Given the description of an element on the screen output the (x, y) to click on. 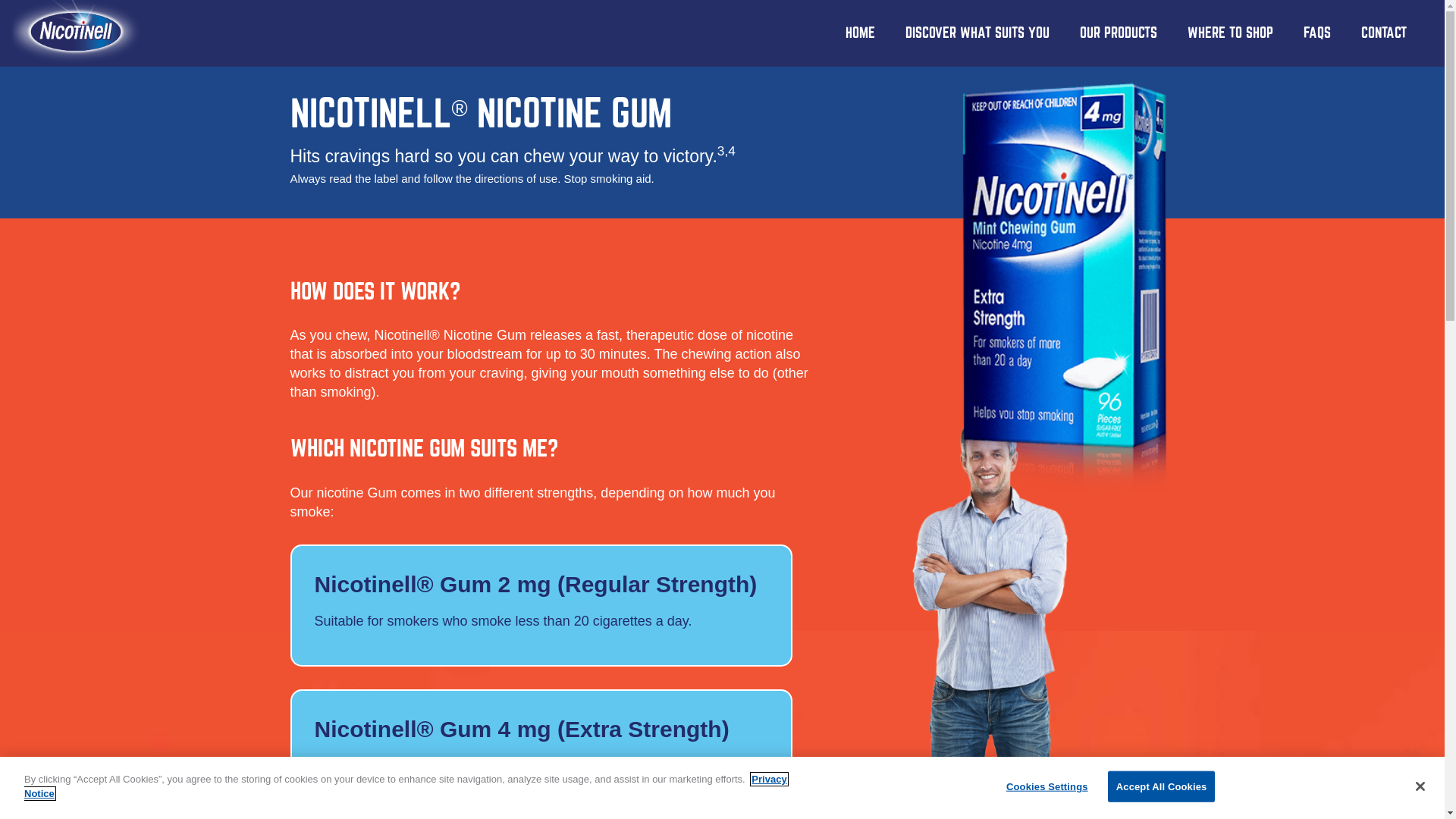
HOME Element type: text (860, 32)
DISCOVER WHAT SUITS YOU Element type: text (977, 32)
Cookies Settings Element type: text (1046, 786)
CONTACT Element type: text (1383, 32)
OUR PRODUCTS Element type: text (1118, 32)
WHERE TO SHOP Element type: text (1230, 32)
Accept All Cookies Element type: text (1161, 787)
FAQS Element type: text (1317, 32)
Privacy Notice Element type: text (405, 786)
